Given the description of an element on the screen output the (x, y) to click on. 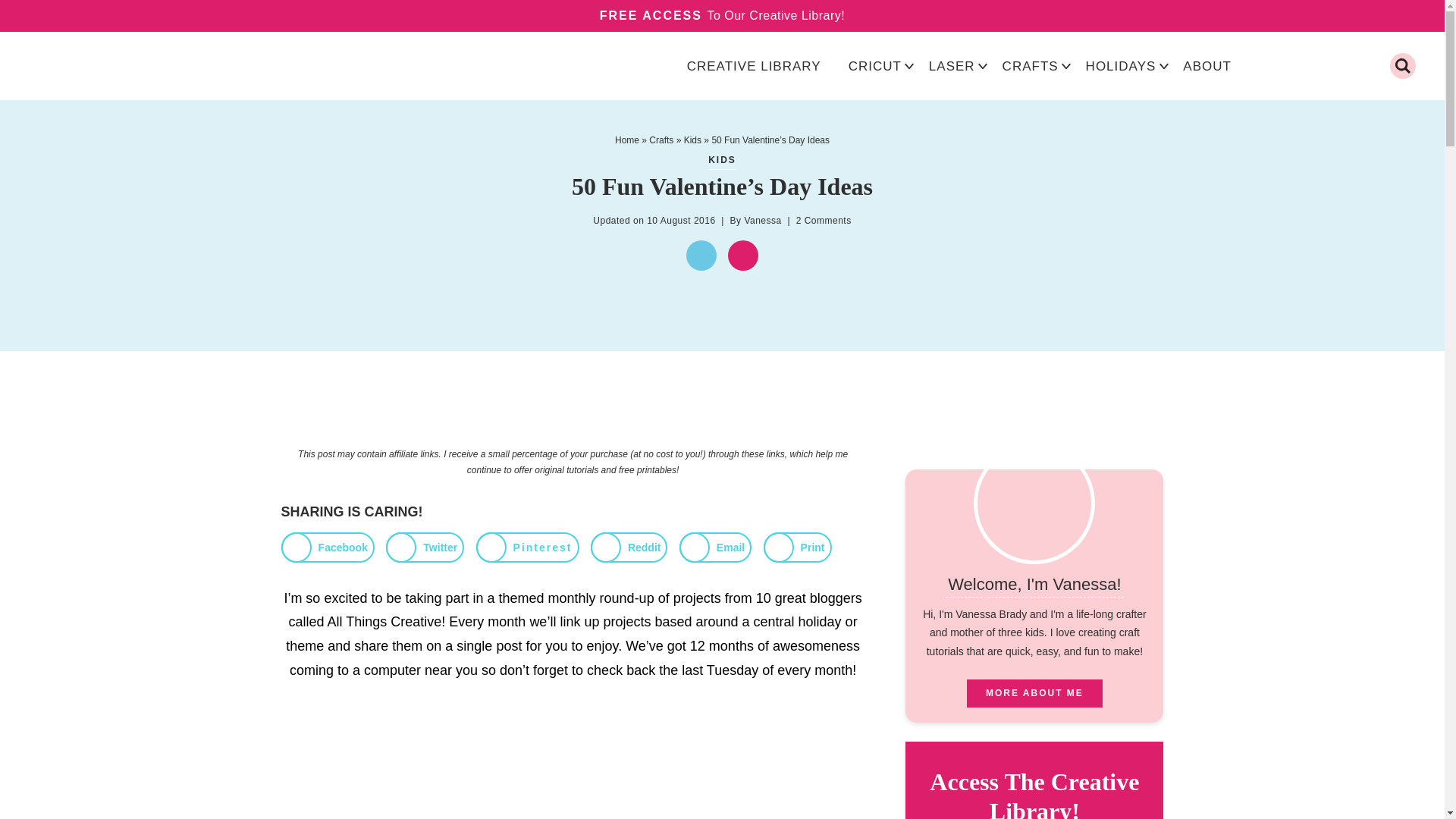
Kid Friendly (700, 255)
Share on Facebook (327, 547)
Valentines (743, 255)
Send over email (715, 547)
LASER (951, 65)
Print this webpage (796, 547)
CRICUT (874, 65)
CREATIVE LIBRARY (753, 65)
CRAFTS (1029, 65)
Save to Pinterest (527, 547)
FREE ACCESS To Our Creative Library! (721, 15)
HOLIDAYS (1120, 65)
Share on X (424, 547)
Share on Reddit (629, 547)
